Given the description of an element on the screen output the (x, y) to click on. 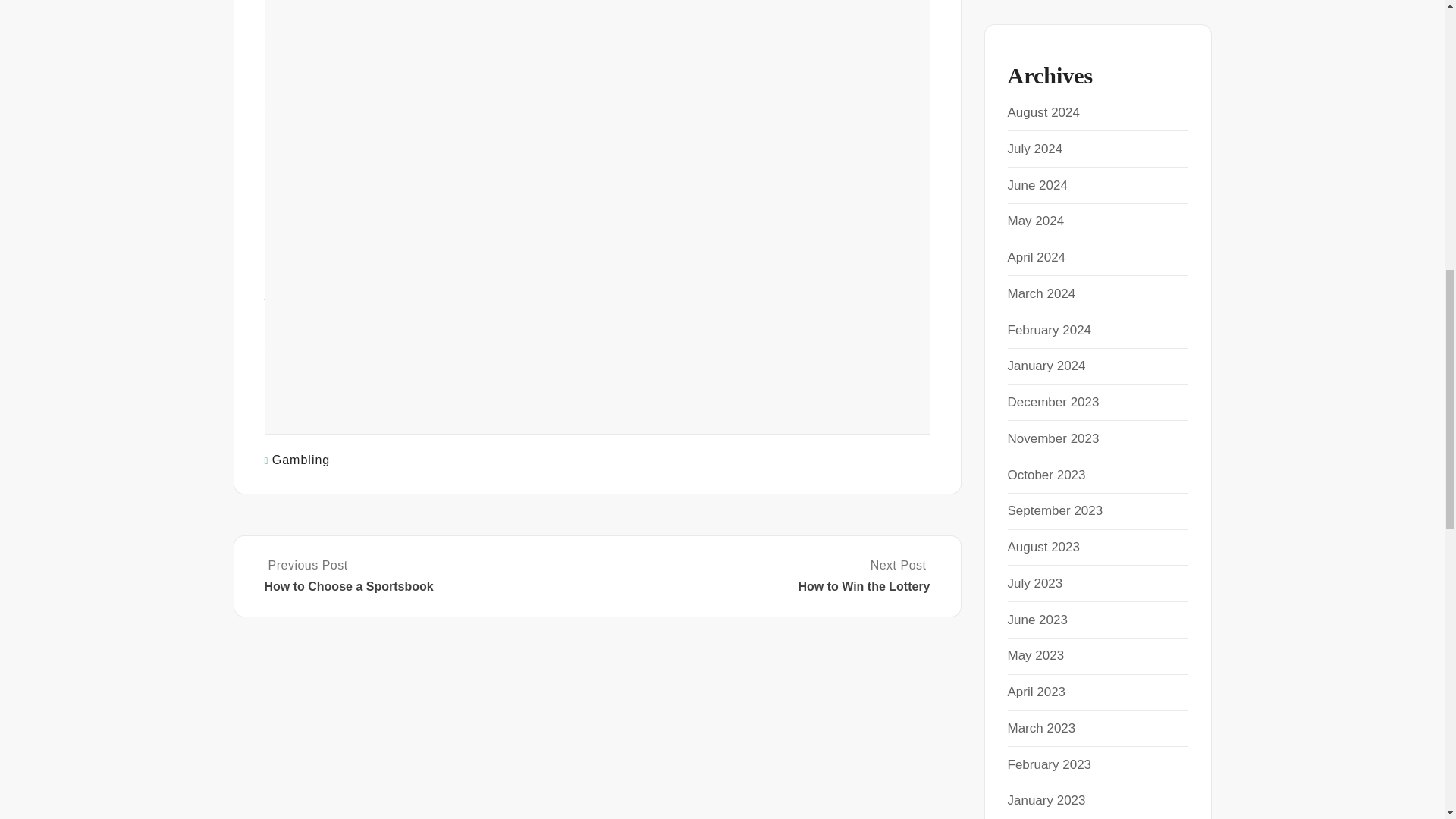
February 2024 (1048, 329)
August 2024 (1042, 112)
July 2023 (1034, 583)
September 2023 (1054, 510)
January 2024 (1045, 365)
May 2024 (1035, 220)
March 2024 (1041, 293)
December 2023 (1053, 401)
